Given the description of an element on the screen output the (x, y) to click on. 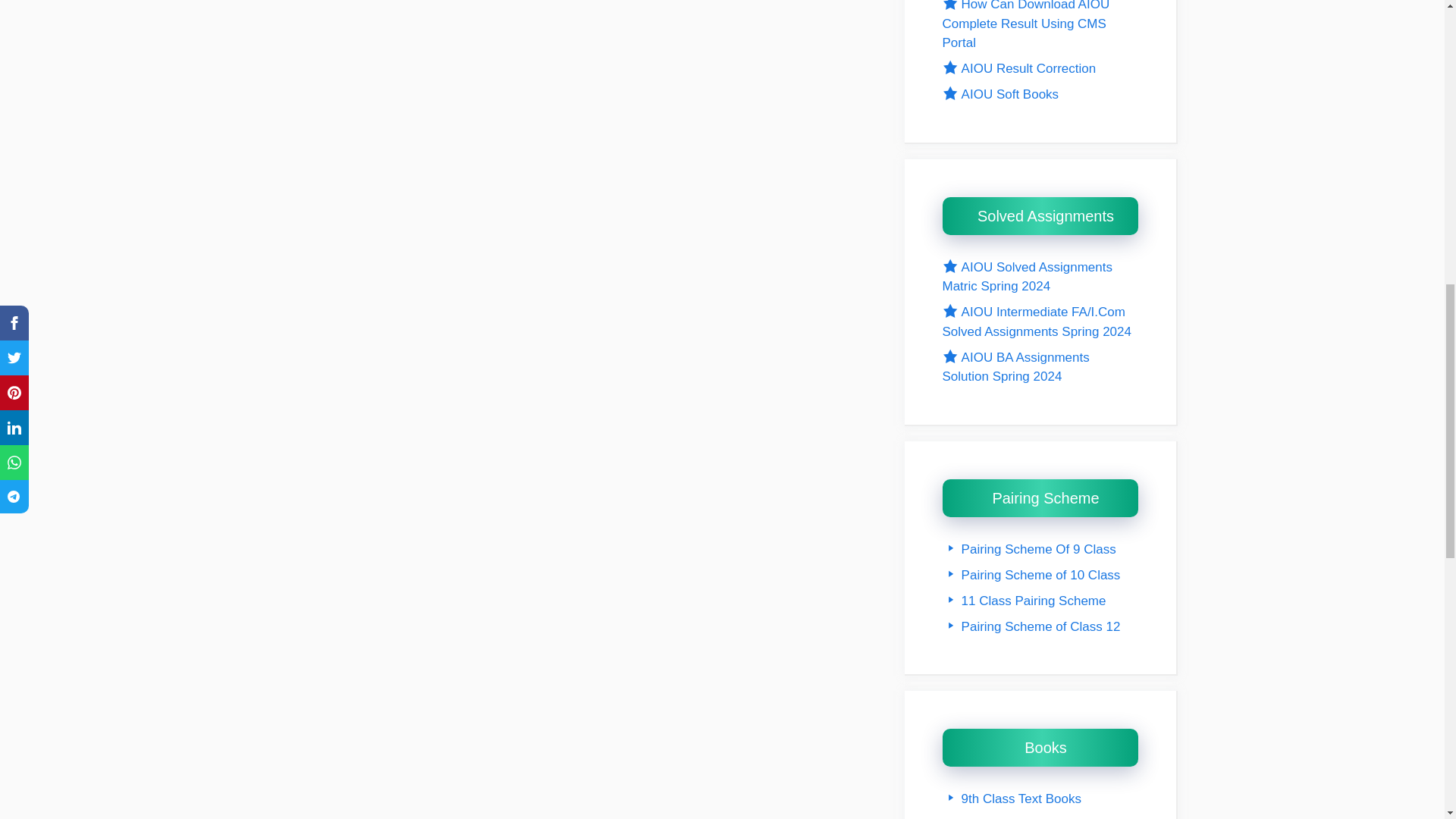
AIOU BA Assignments Solution Spring 2024 (1015, 367)
10th Class Text Books (1014, 818)
How Can Download AIOU Complete Result Using CMS Portal (1025, 24)
AIOU Soft Books (1000, 93)
9th Class Text Books (1011, 798)
11 Class Pairing Scheme (1023, 600)
Pairing Scheme Of 9 Class (1028, 549)
Pairing Scheme of 10 Class (1030, 575)
Pairing Scheme of Class 12 (1030, 626)
AIOU Solved Assignments Matric Spring 2024 (1027, 277)
AIOU Result Correction (1019, 68)
Scroll back to top (1406, 720)
